Given the description of an element on the screen output the (x, y) to click on. 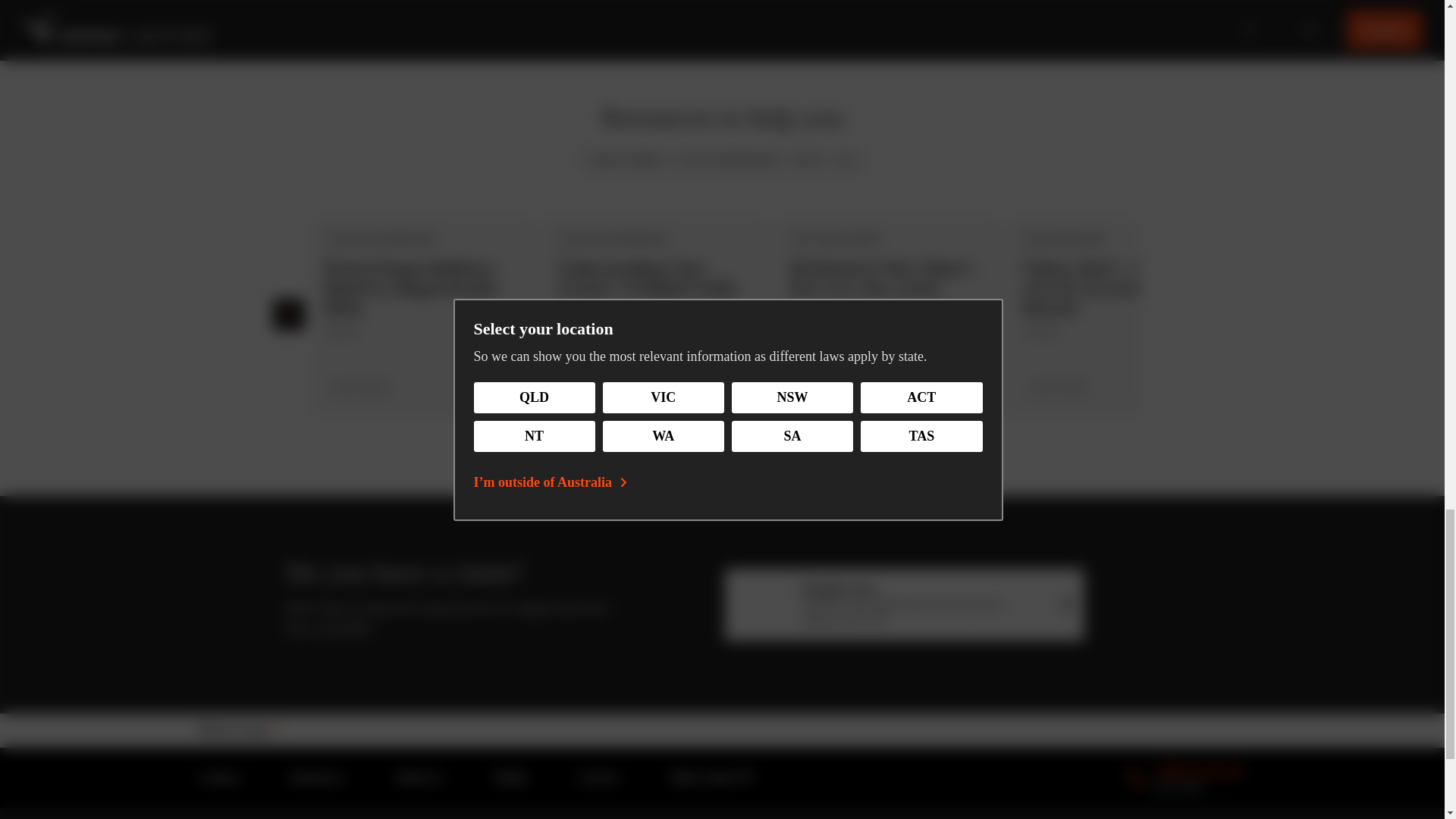
Resources (317, 777)
About Us (418, 777)
LEGAL INFORMATION (729, 159)
Contact (219, 777)
ALL (847, 159)
NEWS (808, 159)
CLIENT STORIES (624, 159)
